Given the description of an element on the screen output the (x, y) to click on. 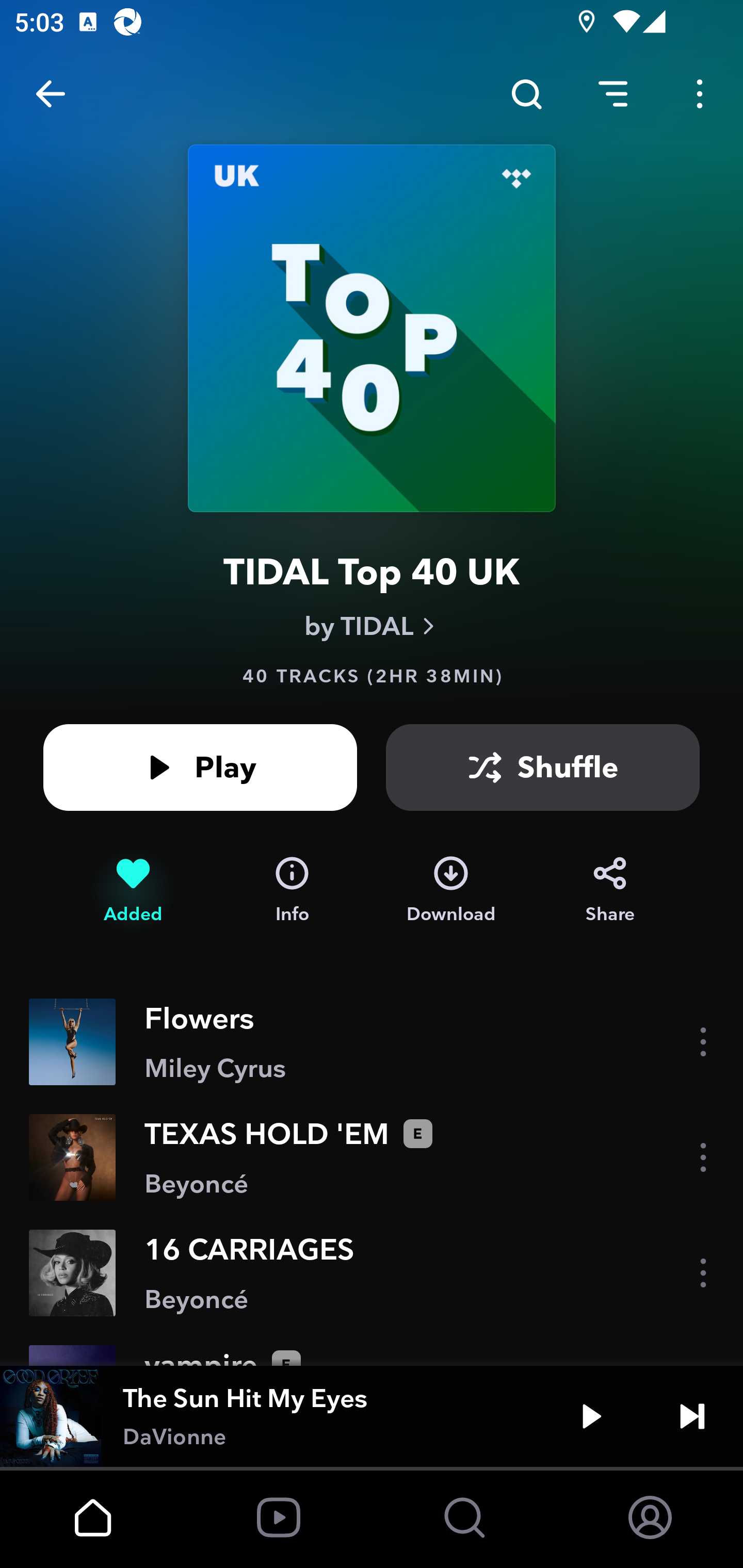
Back (50, 93)
Search (525, 93)
Sorting (612, 93)
Options (699, 93)
by TIDAL (371, 625)
Play (200, 767)
Shuffle (542, 767)
Added (132, 890)
Info (291, 890)
Download (450, 890)
Share (609, 890)
Flowers Miley Cyrus (371, 1041)
TEXAS HOLD 'EM Beyoncé (371, 1157)
16 CARRIAGES Beyoncé (371, 1273)
The Sun Hit My Eyes DaVionne Play (371, 1416)
Play (590, 1416)
